Given the description of an element on the screen output the (x, y) to click on. 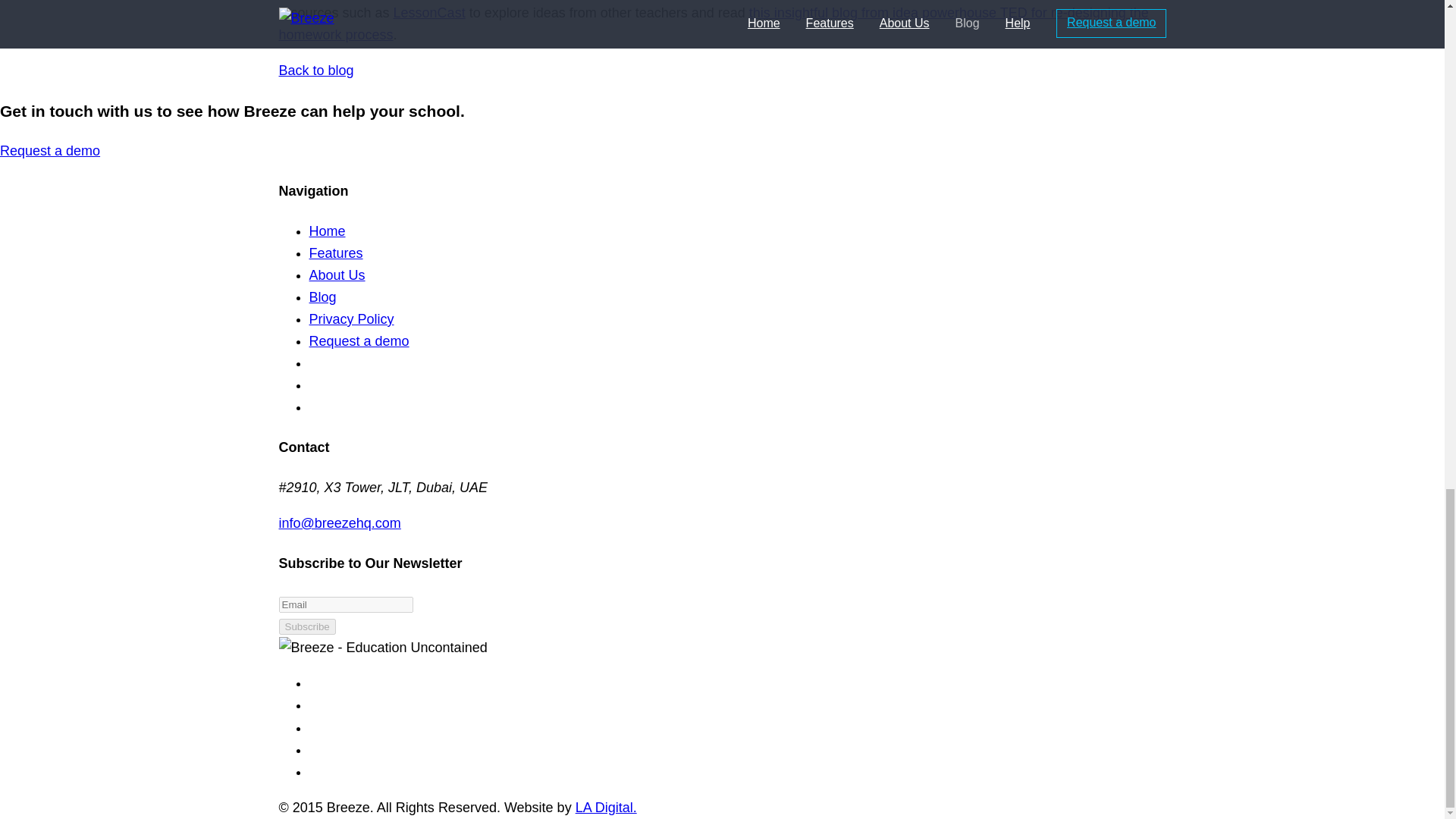
Features (335, 253)
About Us (336, 274)
Request a demo (358, 340)
Home (327, 231)
LessonCast (429, 12)
LA Digital. (606, 807)
Subscribe (307, 626)
Request a demo (50, 150)
Privacy Policy (351, 319)
Blog (322, 296)
Back to blog (316, 70)
